Given the description of an element on the screen output the (x, y) to click on. 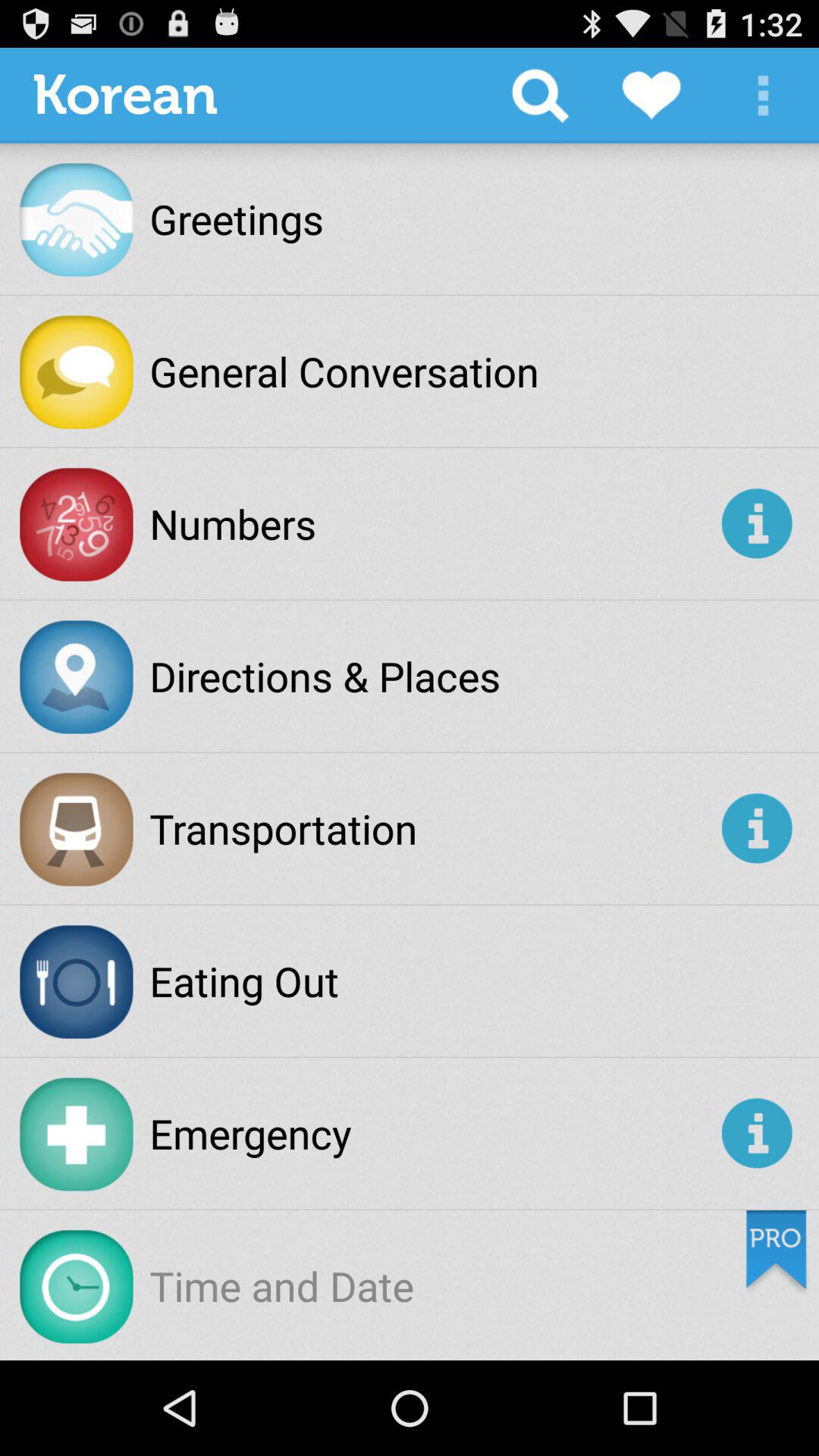
scroll to directions & places icon (324, 675)
